Given the description of an element on the screen output the (x, y) to click on. 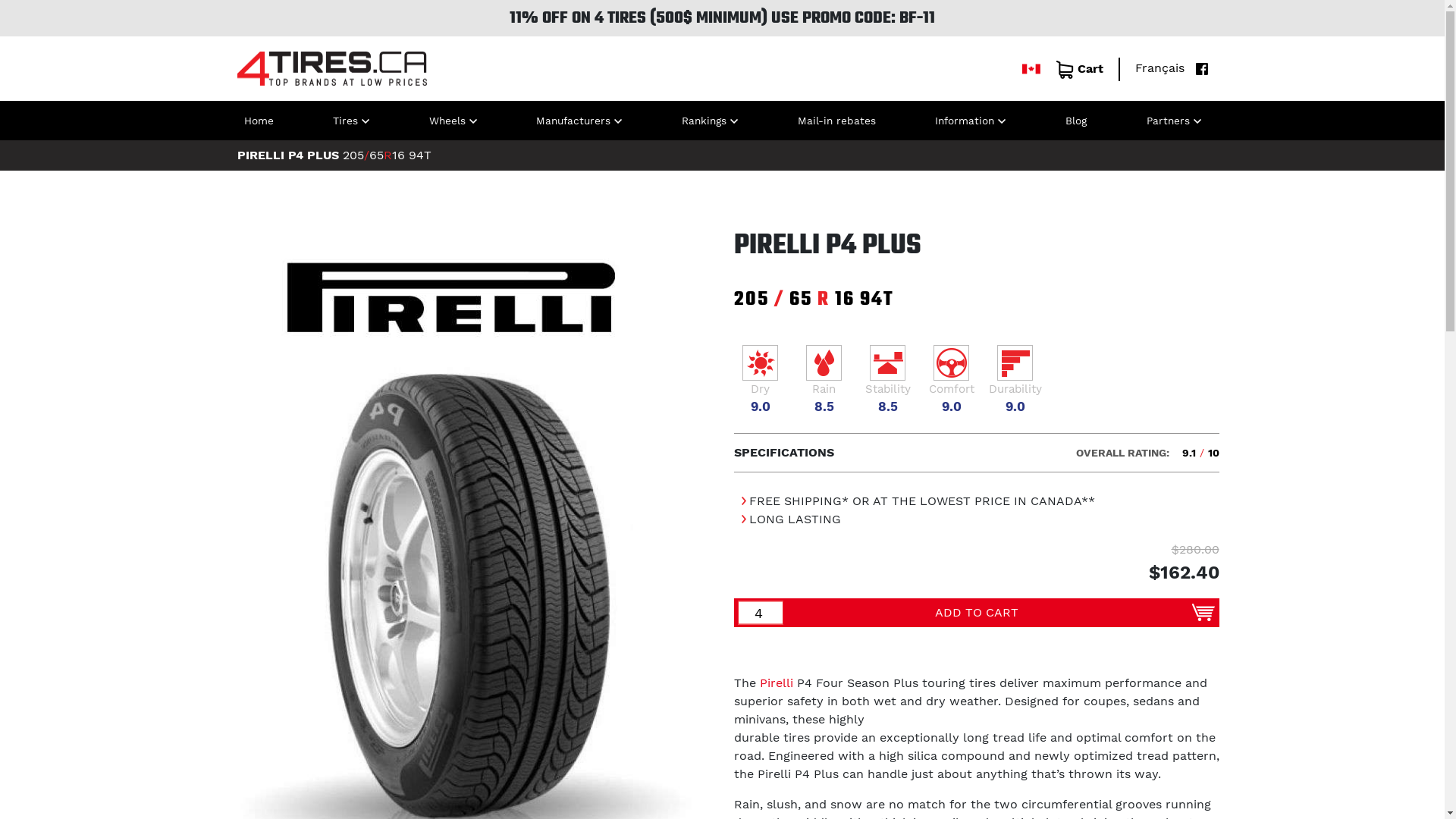
Tires Element type: text (350, 120)
ADD TO CART Element type: text (976, 612)
Pirelli Element type: text (776, 682)
Rankings Element type: text (709, 120)
Mail-in rebates Element type: text (836, 120)
Manufacturers Element type: text (578, 120)
Wheels Element type: text (453, 120)
Facebook Element type: hover (1198, 67)
Partners Element type: text (1173, 120)
Blog Element type: text (1075, 120)
Cart Element type: text (1079, 68)
Information Element type: text (969, 120)
Home Element type: text (258, 120)
